Given the description of an element on the screen output the (x, y) to click on. 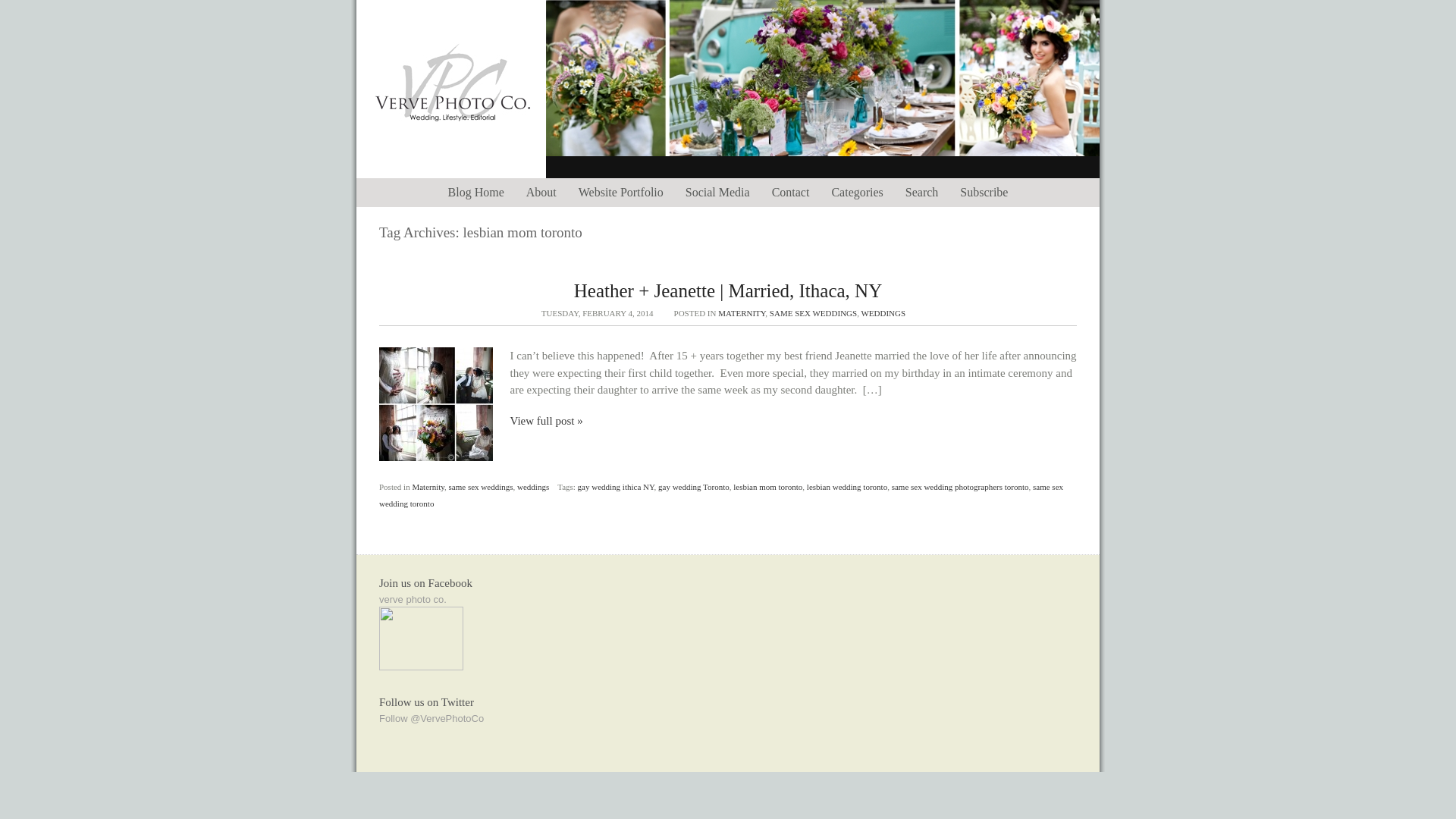
SAME SEX WEDDINGS (813, 311)
Contact (790, 192)
MATERNITY (741, 311)
View full post  (435, 404)
Categories (856, 192)
Website Portfolio (620, 192)
Social Media (717, 192)
Search (922, 192)
verve photo co. (412, 599)
WEDDINGS (882, 311)
